Given the description of an element on the screen output the (x, y) to click on. 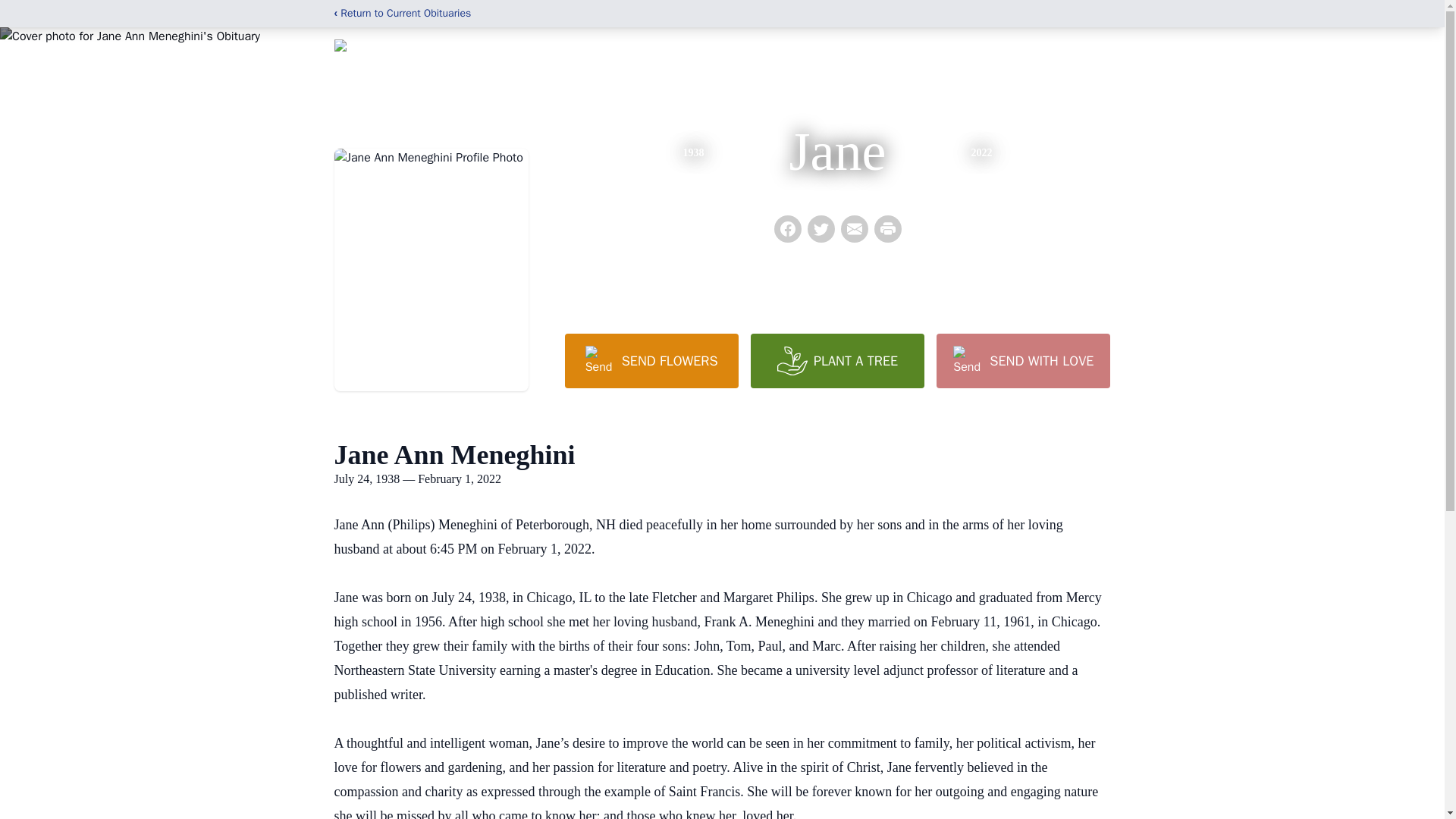
SEND WITH LOVE (1022, 360)
SEND FLOWERS (651, 360)
PLANT A TREE (837, 360)
